Given the description of an element on the screen output the (x, y) to click on. 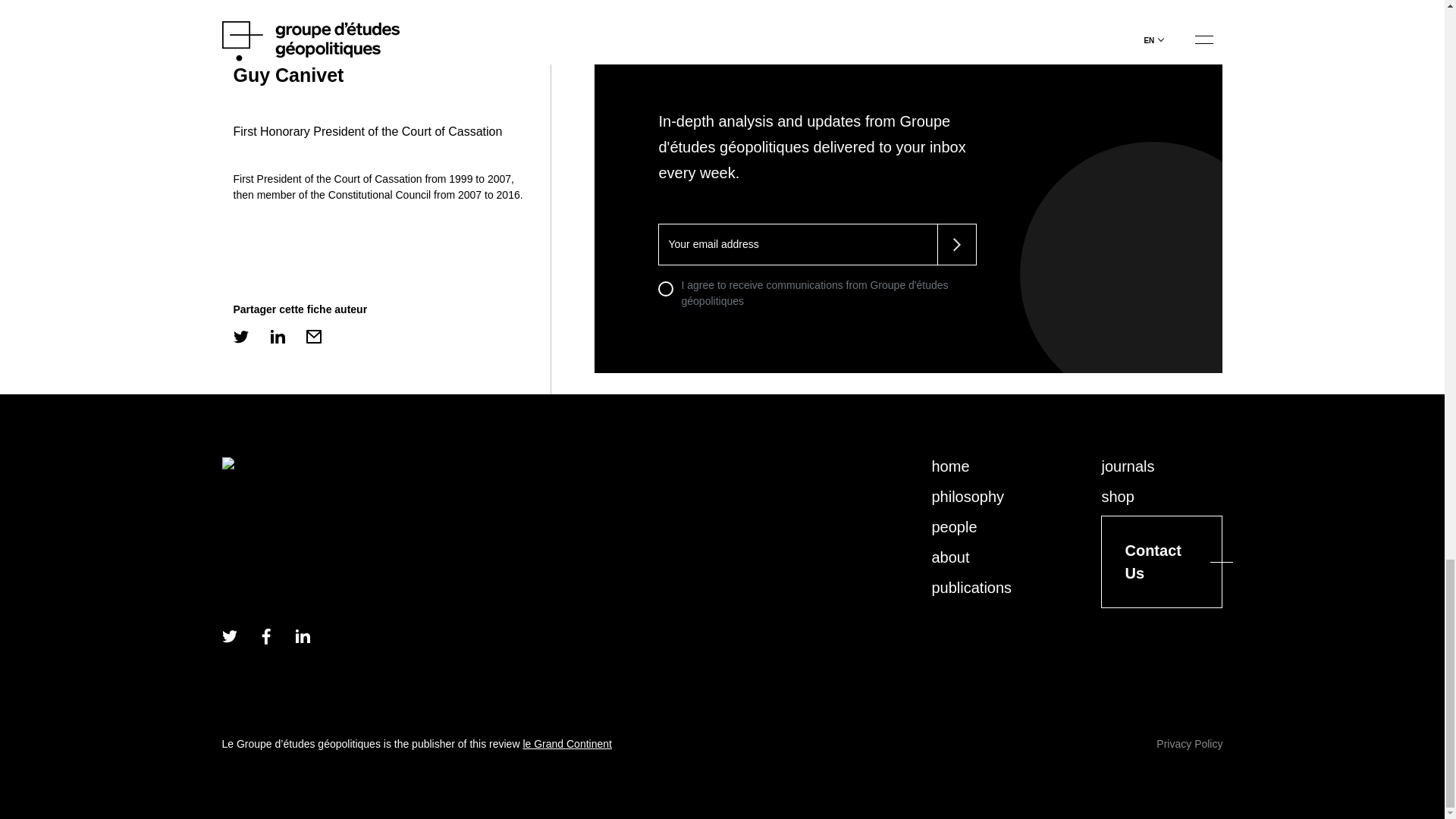
Linkedin (301, 635)
on (665, 288)
Twitter (228, 635)
